Given the description of an element on the screen output the (x, y) to click on. 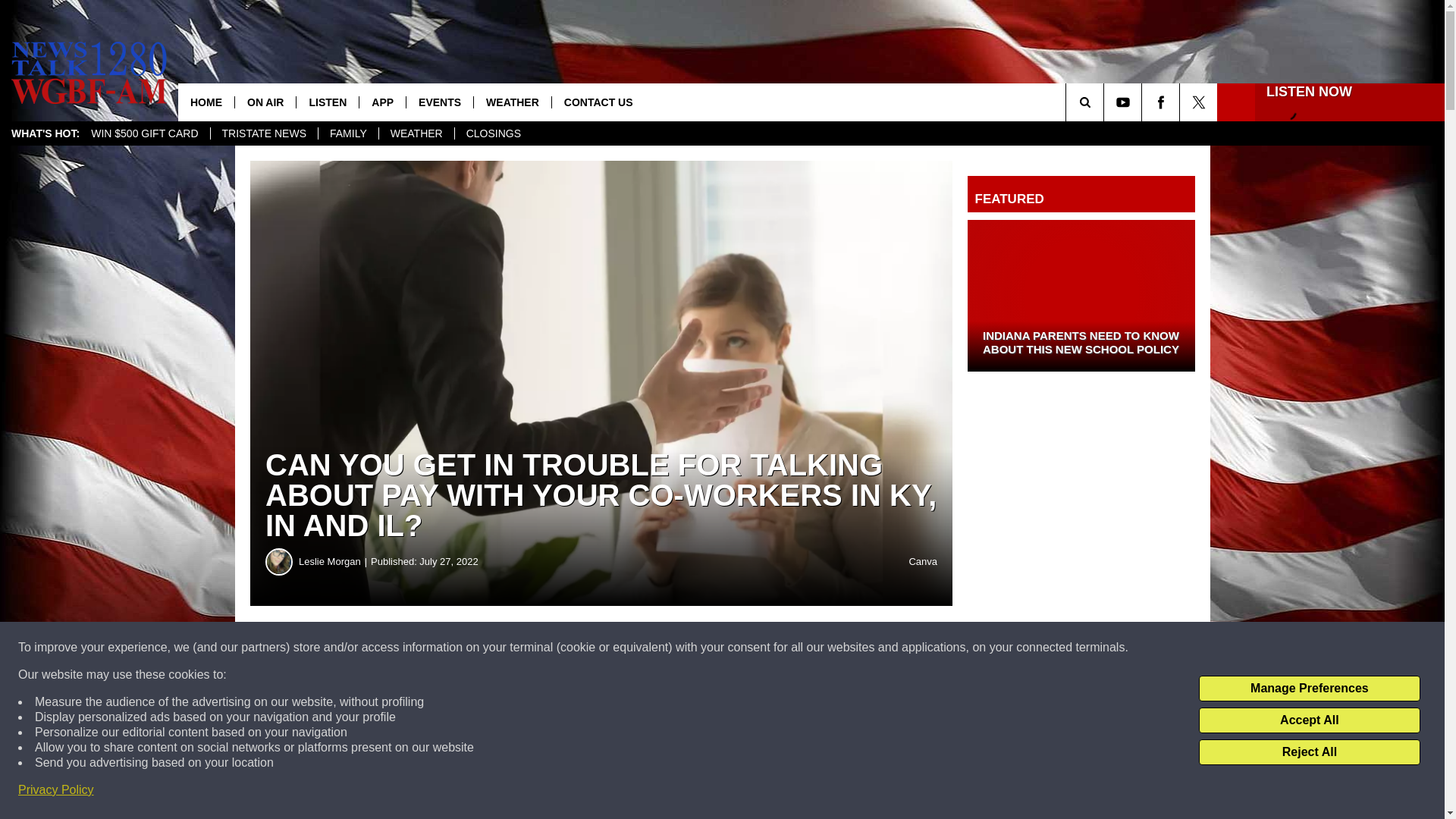
Accept All (1309, 720)
CLOSINGS (493, 133)
HOME (205, 102)
Share on Twitter (741, 647)
SEARCH (1106, 102)
EVENTS (439, 102)
LISTEN (326, 102)
CONTACT US (598, 102)
Reject All (1309, 751)
APP (382, 102)
ON AIR (264, 102)
TRISTATE NEWS (263, 133)
WEATHER (416, 133)
SEARCH (1106, 102)
Share on Facebook (460, 647)
